Given the description of an element on the screen output the (x, y) to click on. 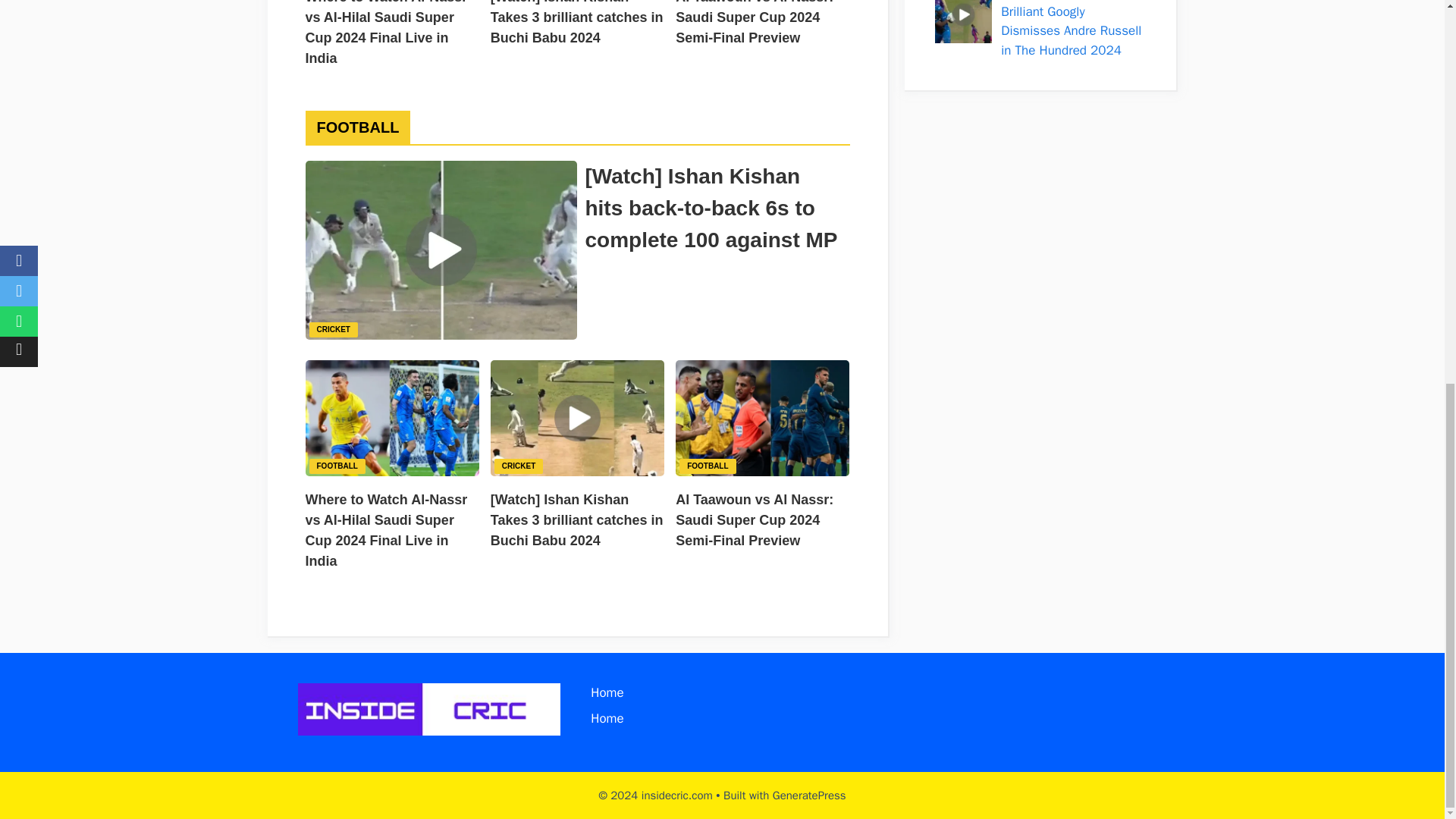
CRICKET (519, 465)
FOOTBALL (707, 465)
CRICKET (333, 328)
FOOTBALL (336, 465)
